Given the description of an element on the screen output the (x, y) to click on. 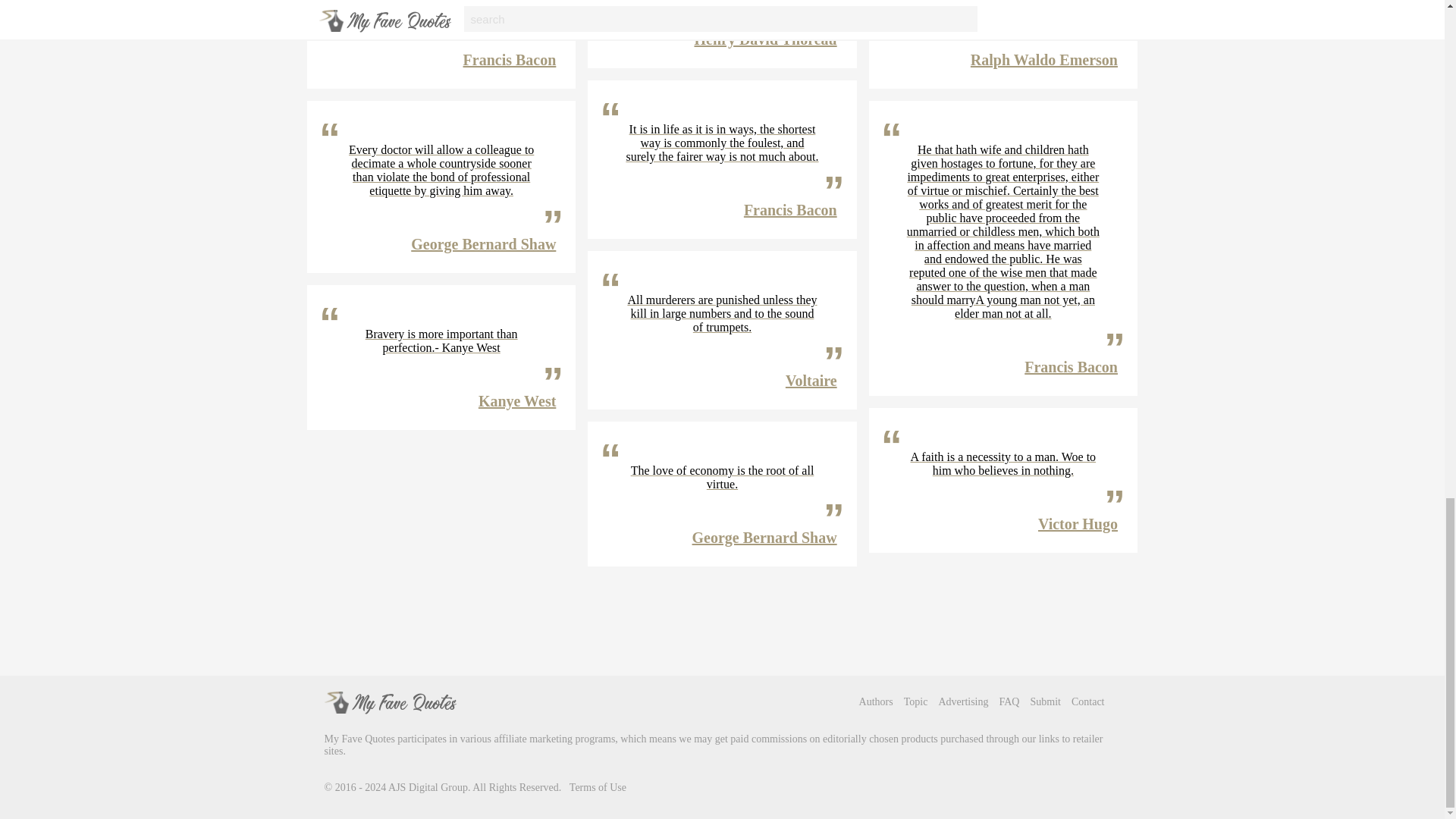
Bravery is more important than perfection.- Kanye West (440, 340)
Francis Bacon (509, 59)
George Bernard Shaw (483, 243)
